Given the description of an element on the screen output the (x, y) to click on. 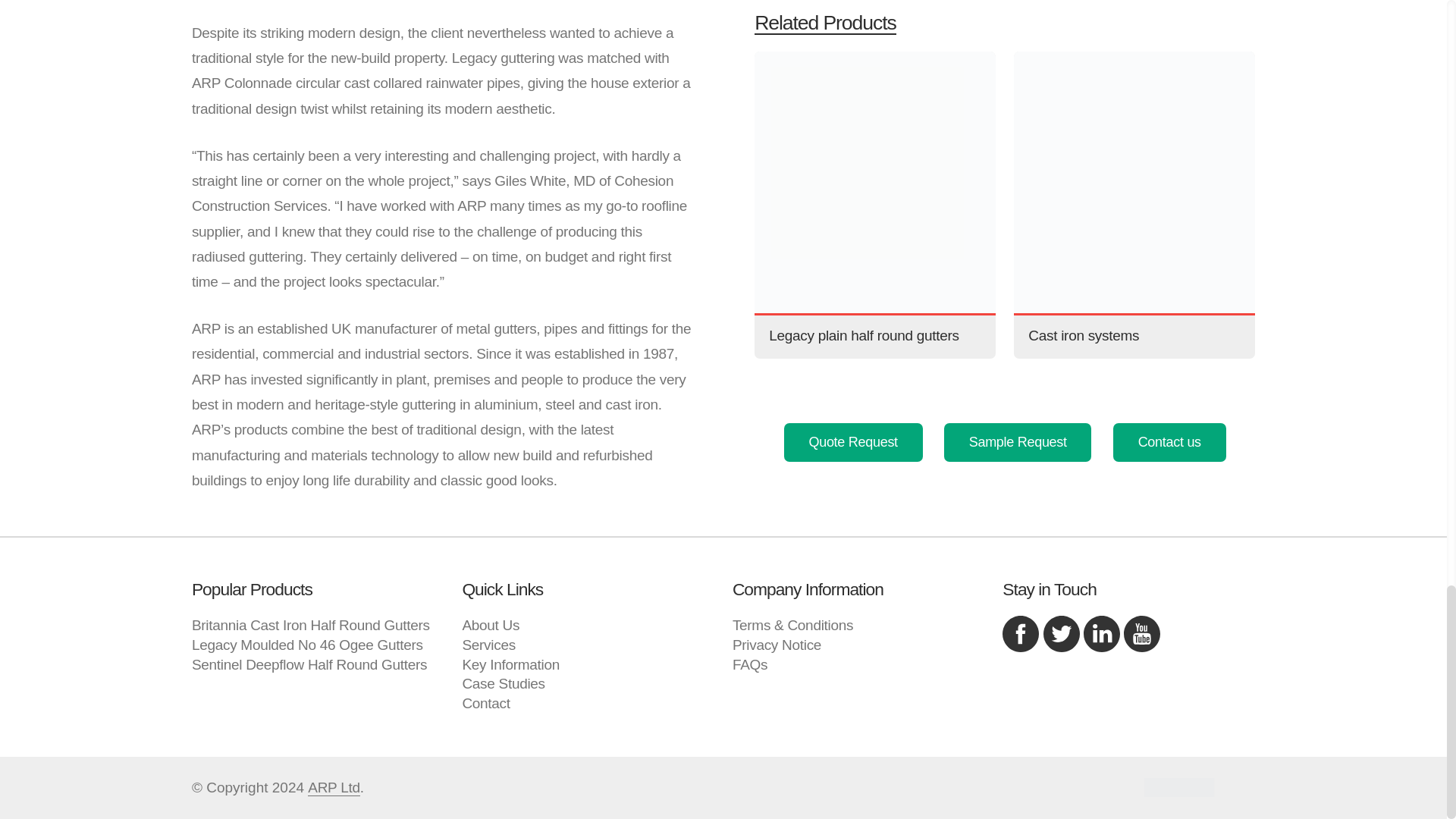
Quote Request (853, 442)
Contact us (1169, 442)
Sample Request (1016, 442)
Colonnade circular cast collared rainwater pipes (407, 82)
